Given the description of an element on the screen output the (x, y) to click on. 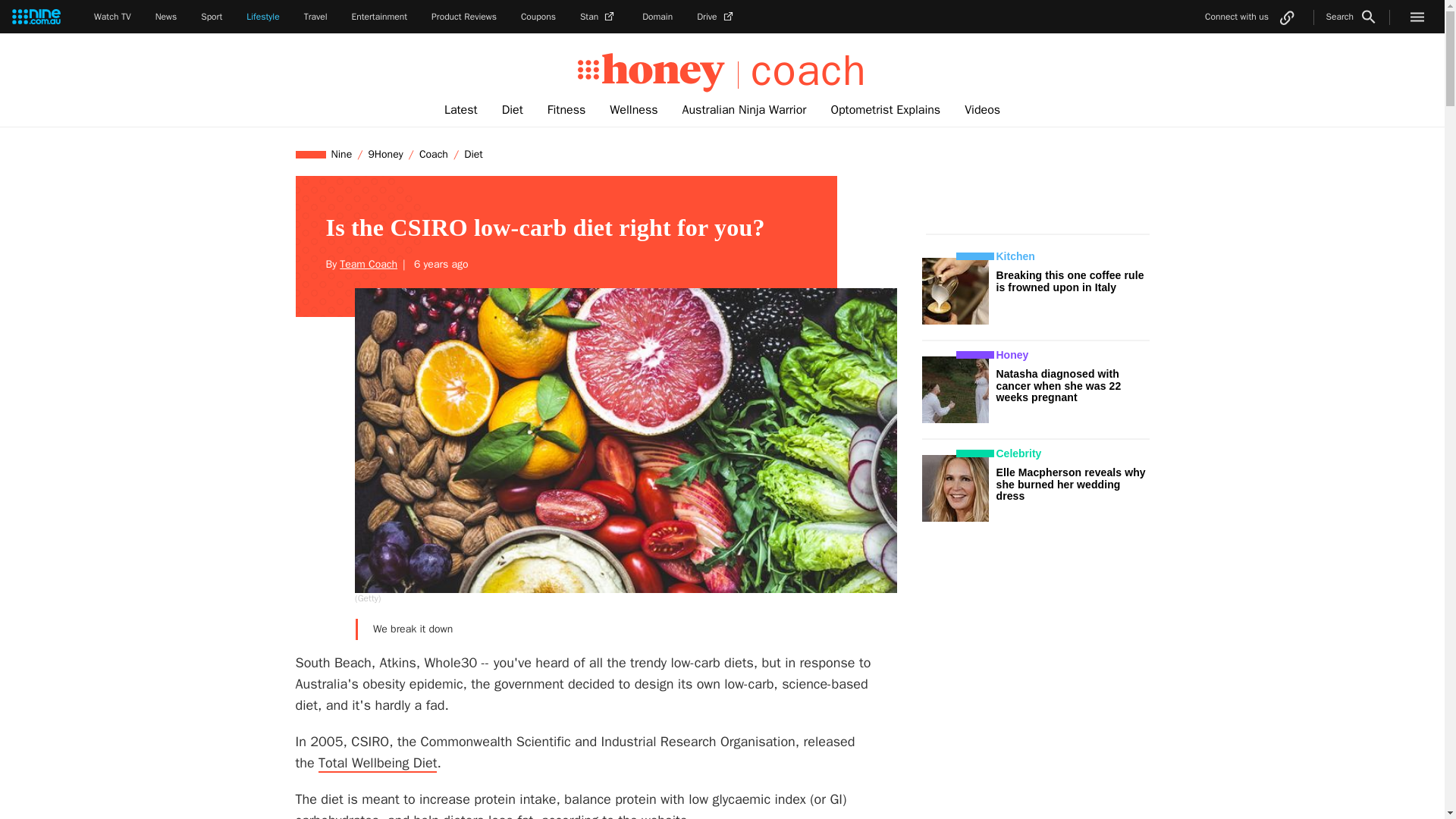
Coach (432, 154)
Diet (472, 154)
Lifestyle (262, 16)
Domain (657, 16)
Watch TV (112, 16)
Coupons (538, 16)
Team Coach (368, 264)
Latest (460, 109)
Videos (981, 109)
Optometrist Explains (885, 109)
